Given the description of an element on the screen output the (x, y) to click on. 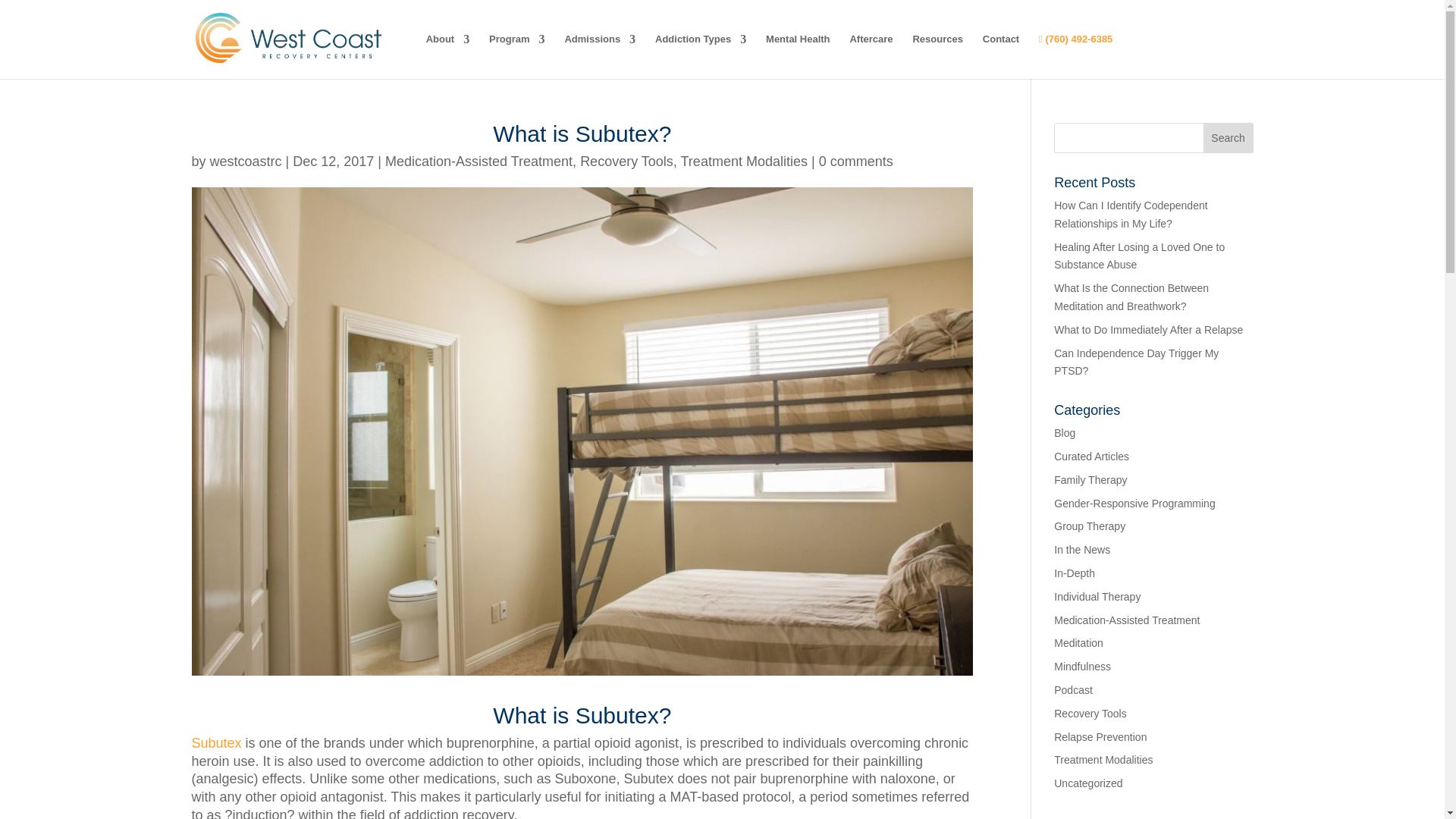
Program (516, 50)
Addiction Types (700, 50)
About (448, 50)
Admissions (599, 50)
Mental Health (797, 50)
Search (1228, 137)
Contact (1000, 50)
Resources (937, 50)
Aftercare (870, 50)
Posts by westcoastrc (245, 160)
